Given the description of an element on the screen output the (x, y) to click on. 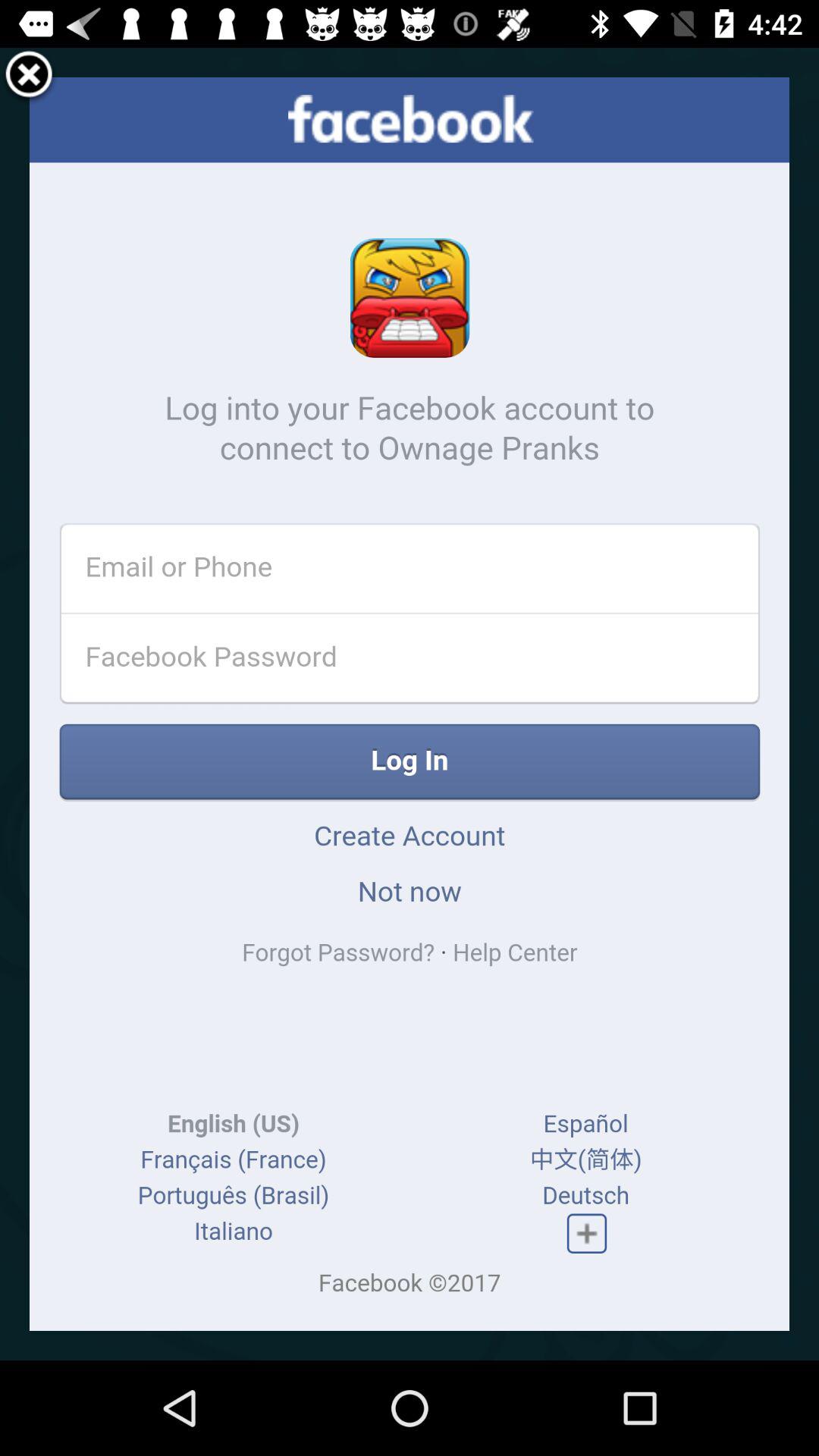
exit screen (29, 76)
